Given the description of an element on the screen output the (x, y) to click on. 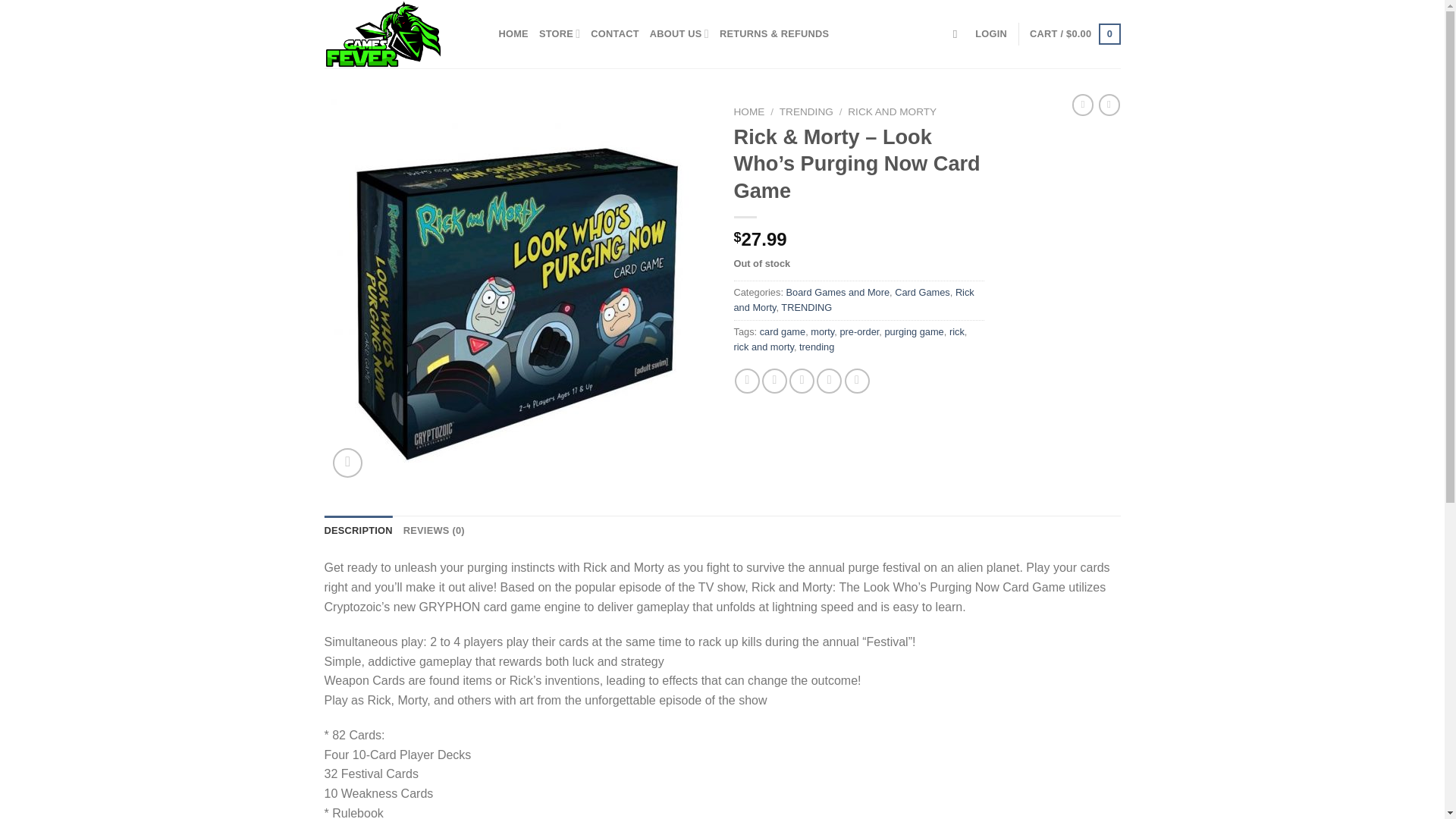
Gamesfever - Collectables, Cards, Tabletop and Figurines (400, 33)
Share on Twitter (774, 380)
ABOUT US (679, 33)
Share on LinkedIn (856, 380)
CONTACT (615, 33)
STORE (558, 33)
Share on Facebook (747, 380)
HOME (513, 33)
Email to a Friend (801, 380)
Zoom (347, 462)
Cart (1074, 34)
Pin on Pinterest (828, 380)
